Given the description of an element on the screen output the (x, y) to click on. 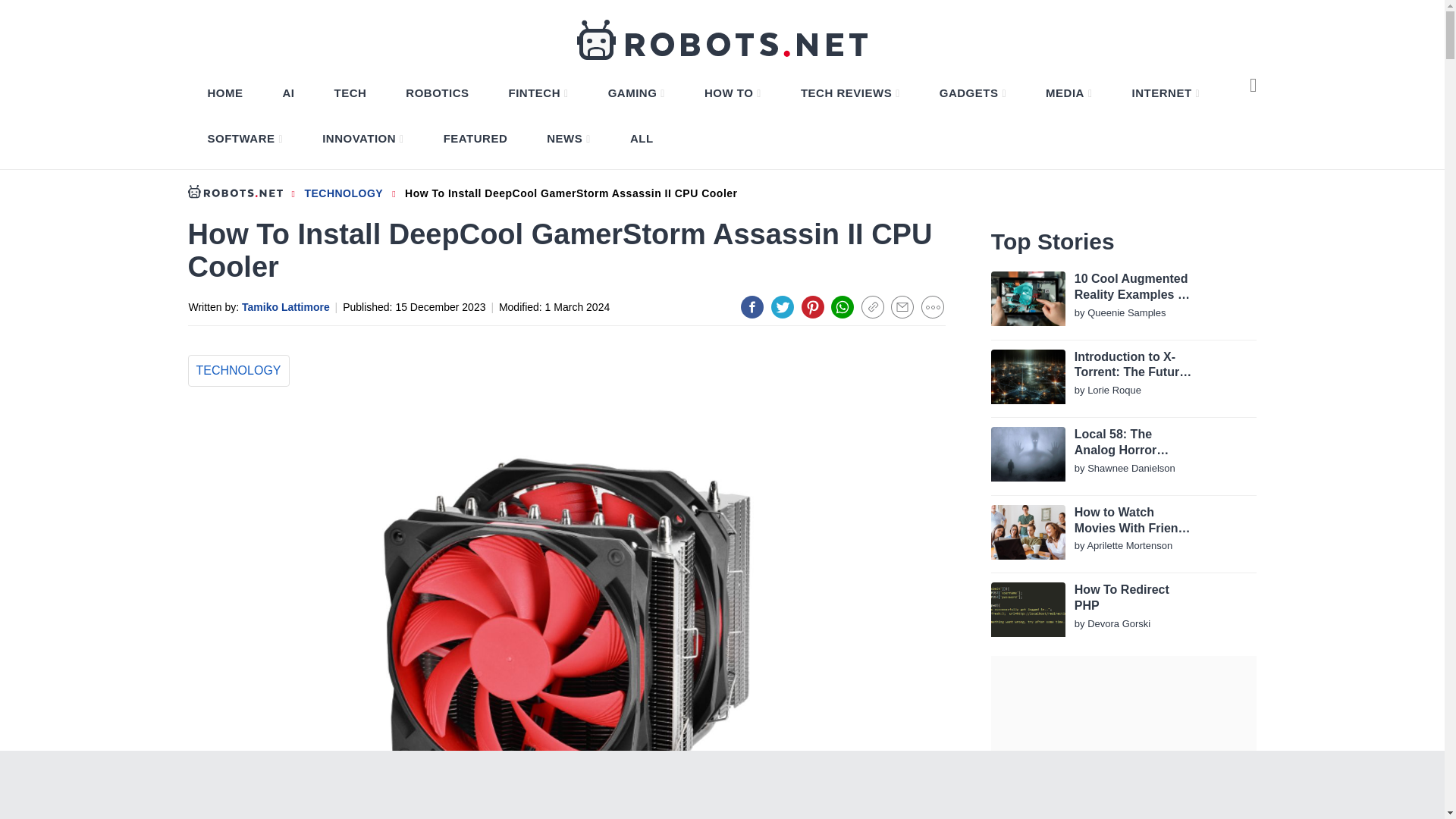
Mail the Link (902, 306)
AI (288, 93)
Share on Whatsapp (842, 306)
Share on Pinterest (813, 306)
ROBOTICS (436, 93)
GAMING (635, 93)
GADGETS (972, 93)
TECH REVIEWS (850, 93)
Copy to Clipboard (872, 306)
HOW TO (732, 93)
HOME (225, 93)
FINTECH (538, 93)
Share on facebook (751, 306)
MEDIA (1068, 93)
Share on twitter (782, 306)
